Given the description of an element on the screen output the (x, y) to click on. 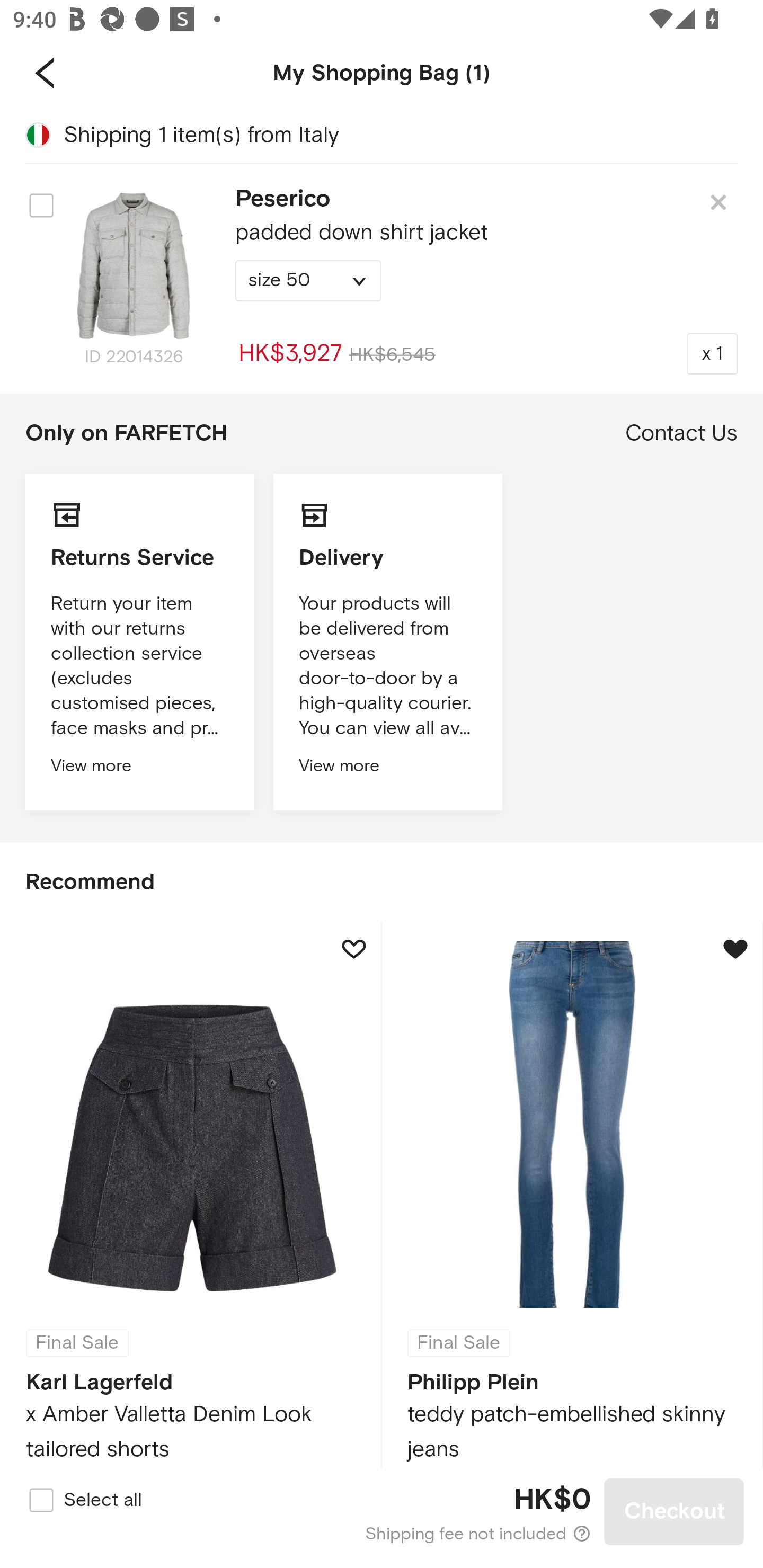
size 50 (308, 280)
x 1 (711, 353)
Contact Us (680, 433)
Checkout (673, 1511)
